Given the description of an element on the screen output the (x, y) to click on. 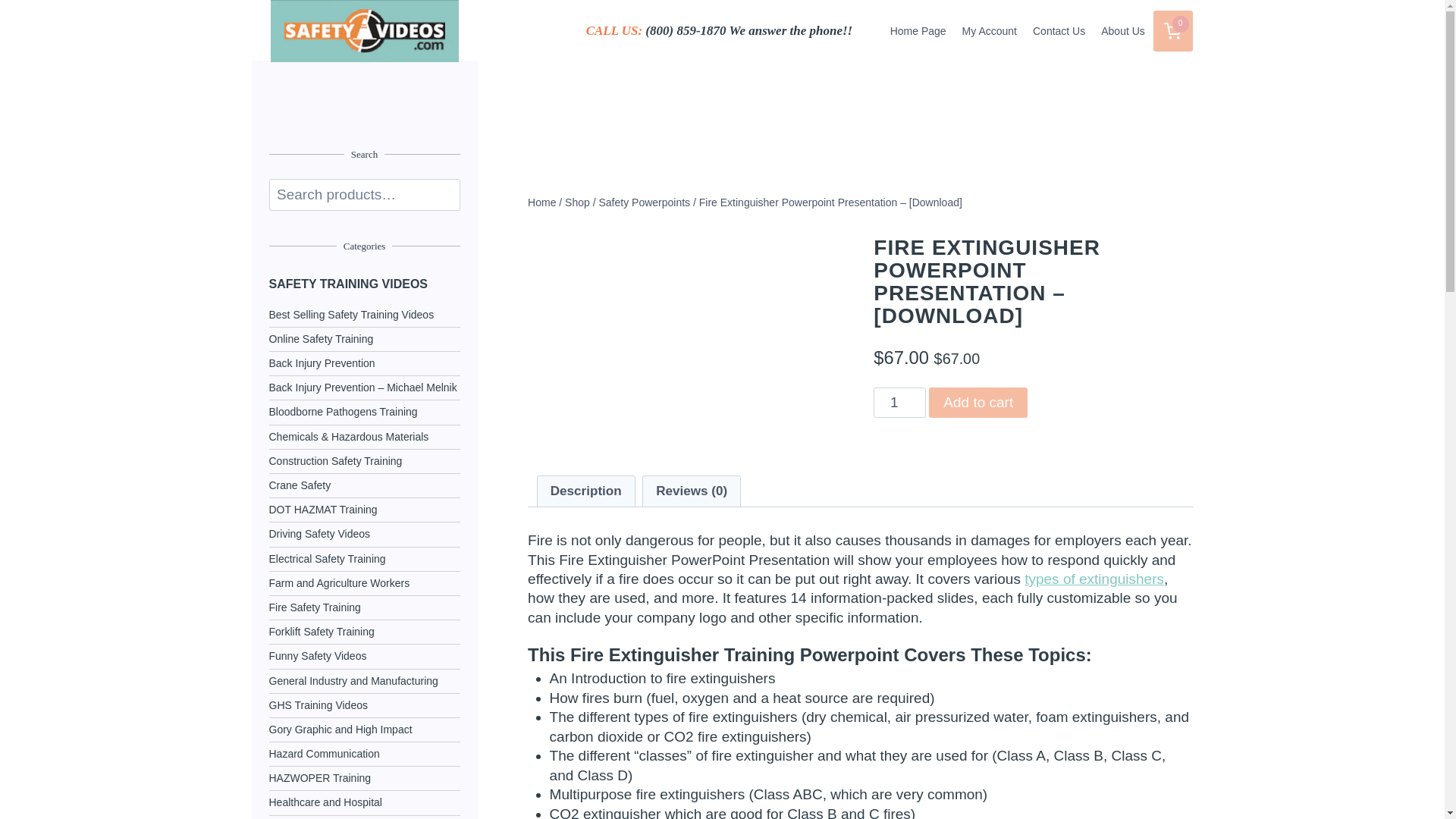
1 (899, 402)
Add to cart (977, 402)
CALL US: (614, 30)
Farm and Agriculture Workers (363, 583)
Home (541, 202)
Bloodborne Pathogens Training (363, 412)
My Account (989, 30)
types of extinguishers (1094, 578)
Back Injury Prevention (363, 363)
Driving Safety Videos (363, 534)
Construction Safety Training (363, 461)
0 (1172, 31)
Shop (576, 202)
Fire Safety Training (363, 607)
SAFETY TRAINING VIDEOS (363, 284)
